Given the description of an element on the screen output the (x, y) to click on. 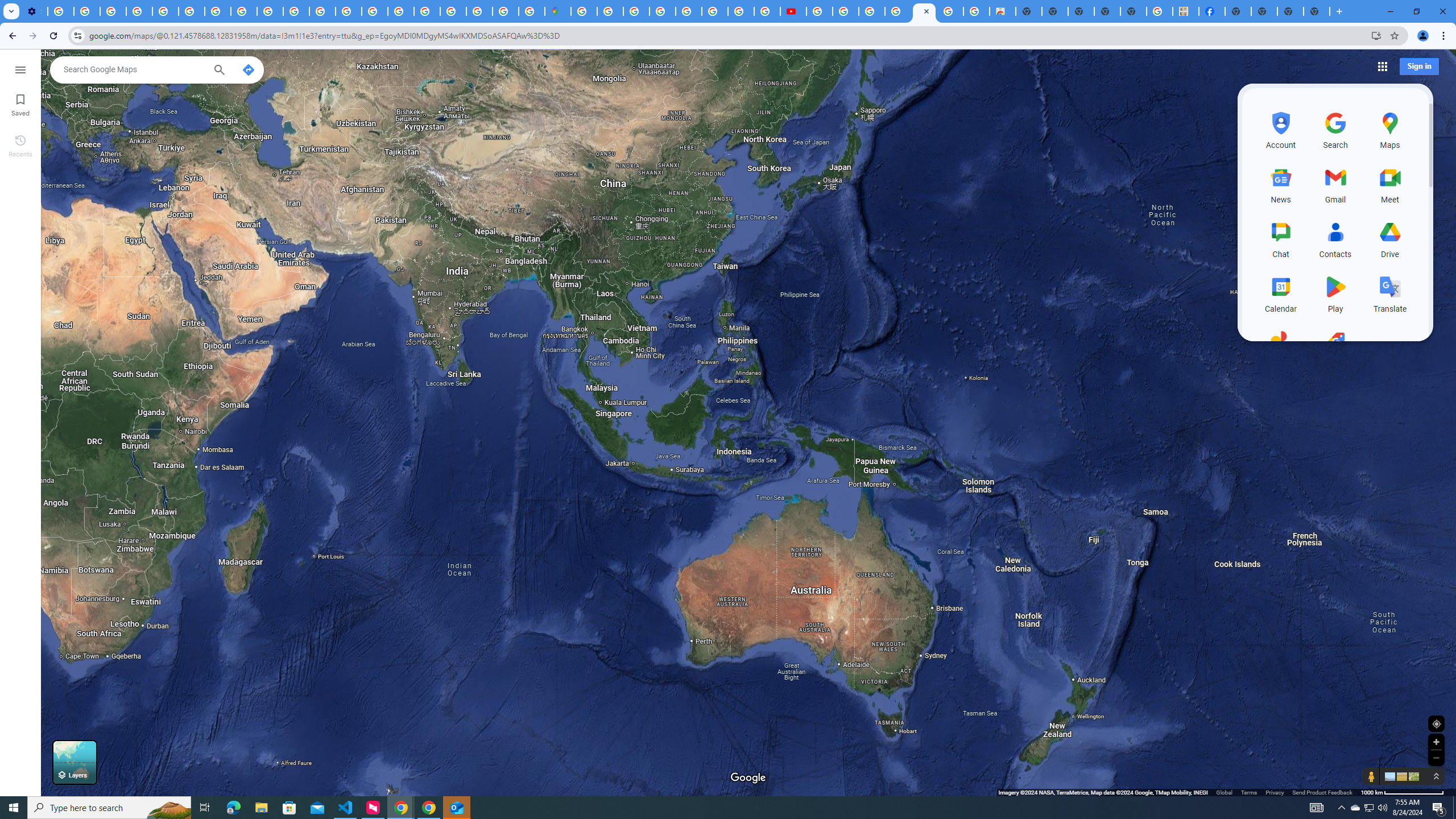
Google Maps (558, 11)
Privacy Help Center - Policies Help (715, 11)
Terms (1248, 792)
Zoom out (1436, 757)
Privacy Help Center - Policies Help (348, 11)
YouTube (191, 11)
Zoom in (1436, 741)
